Given the description of an element on the screen output the (x, y) to click on. 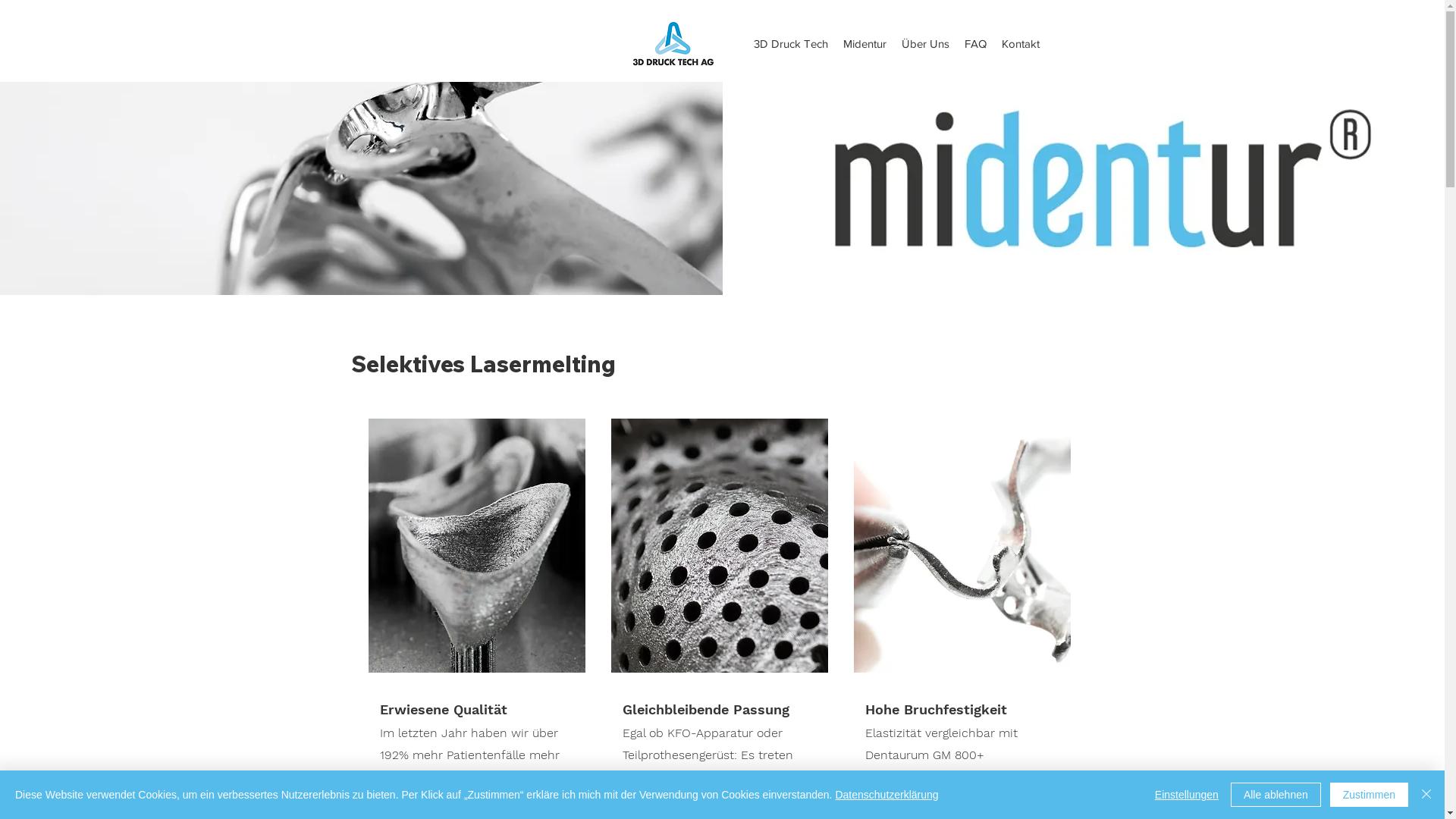
Kontakt Element type: text (1020, 43)
3D Druck Tech Element type: text (790, 43)
FAQ Element type: text (975, 43)
Midentur Element type: text (864, 43)
Alle ablehnen Element type: text (1275, 794)
Zustimmen Element type: text (1369, 794)
